Given the description of an element on the screen output the (x, y) to click on. 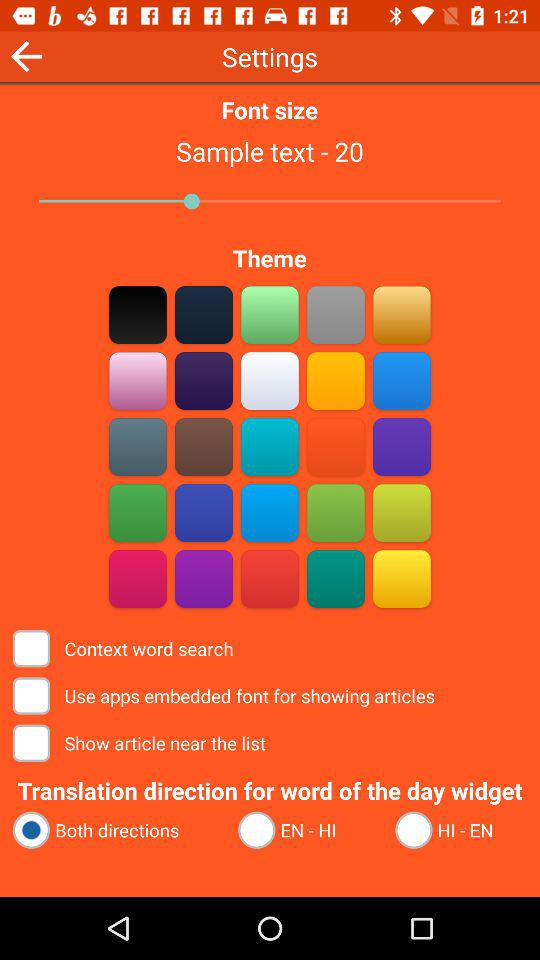
flashes green yellow (335, 512)
